Given the description of an element on the screen output the (x, y) to click on. 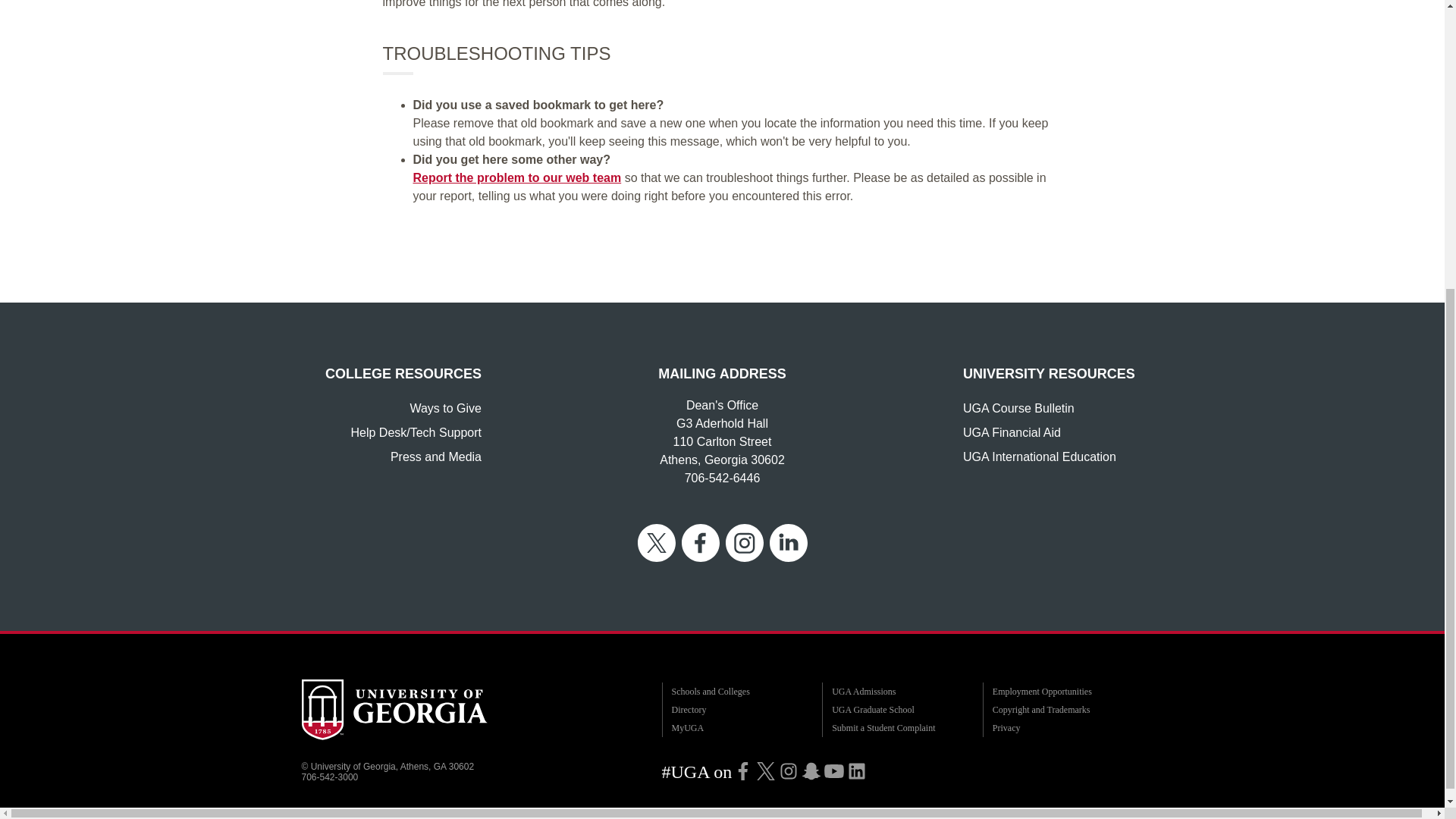
Facebook (743, 770)
YouTube (833, 770)
LinkedIn (856, 770)
Twitter (765, 770)
Snapchat (810, 770)
Instagram (788, 770)
